Given the description of an element on the screen output the (x, y) to click on. 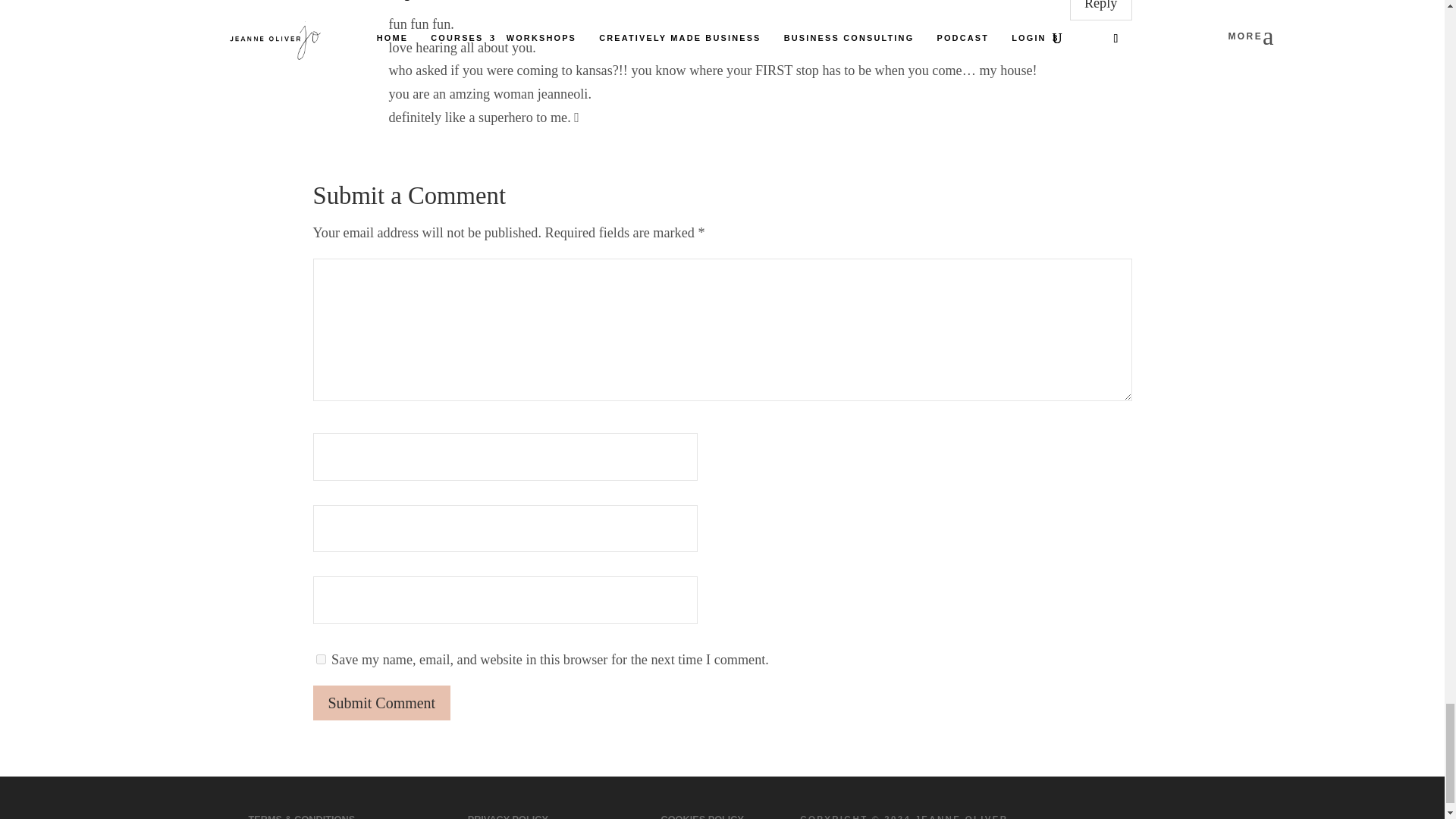
yes (319, 659)
Submit Comment (381, 702)
